Given the description of an element on the screen output the (x, y) to click on. 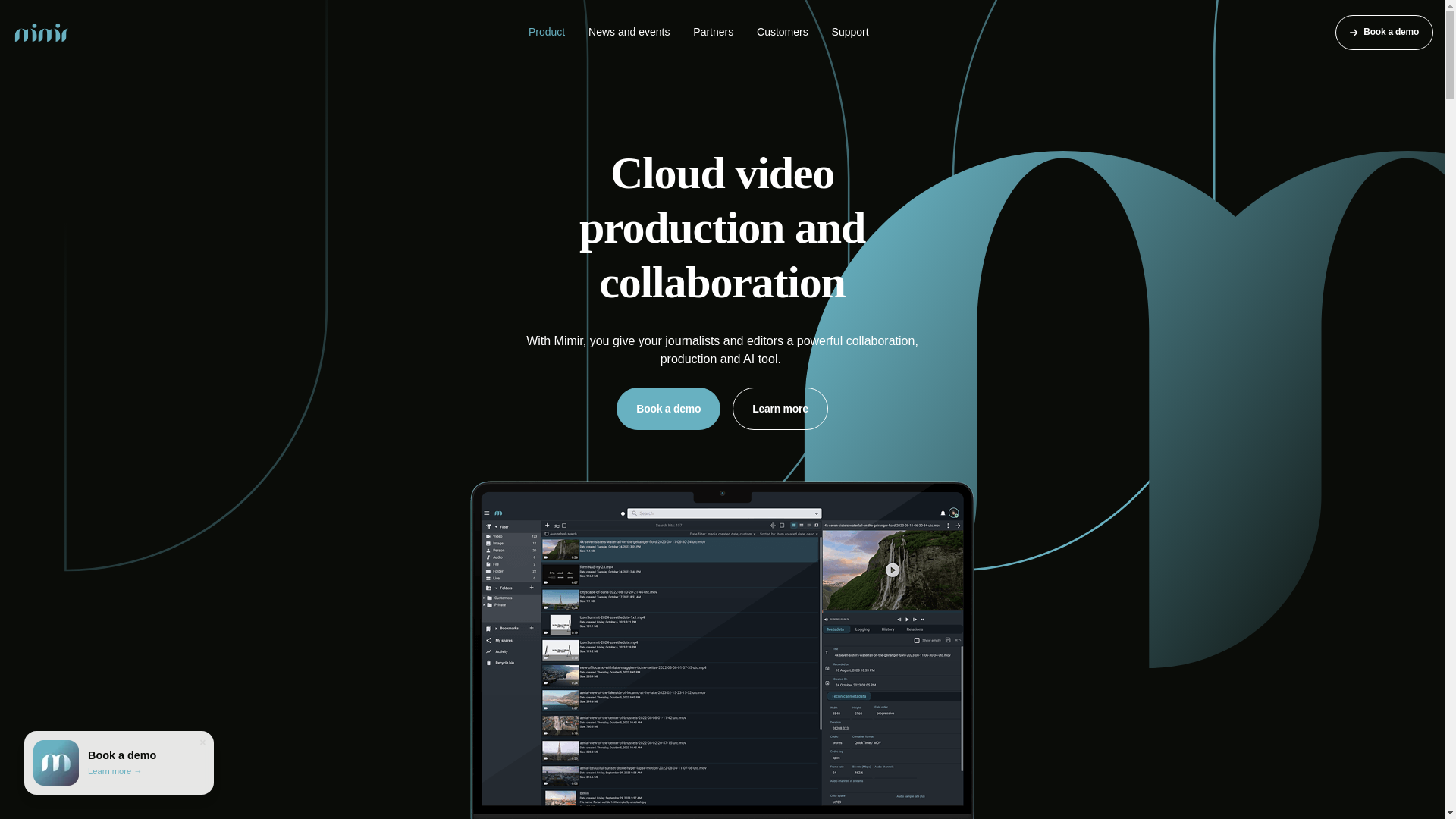
Learn more (779, 408)
Book a demo (667, 408)
Book a demo (1383, 32)
News and events (628, 32)
Partners (712, 32)
Customers (782, 32)
